Given the description of an element on the screen output the (x, y) to click on. 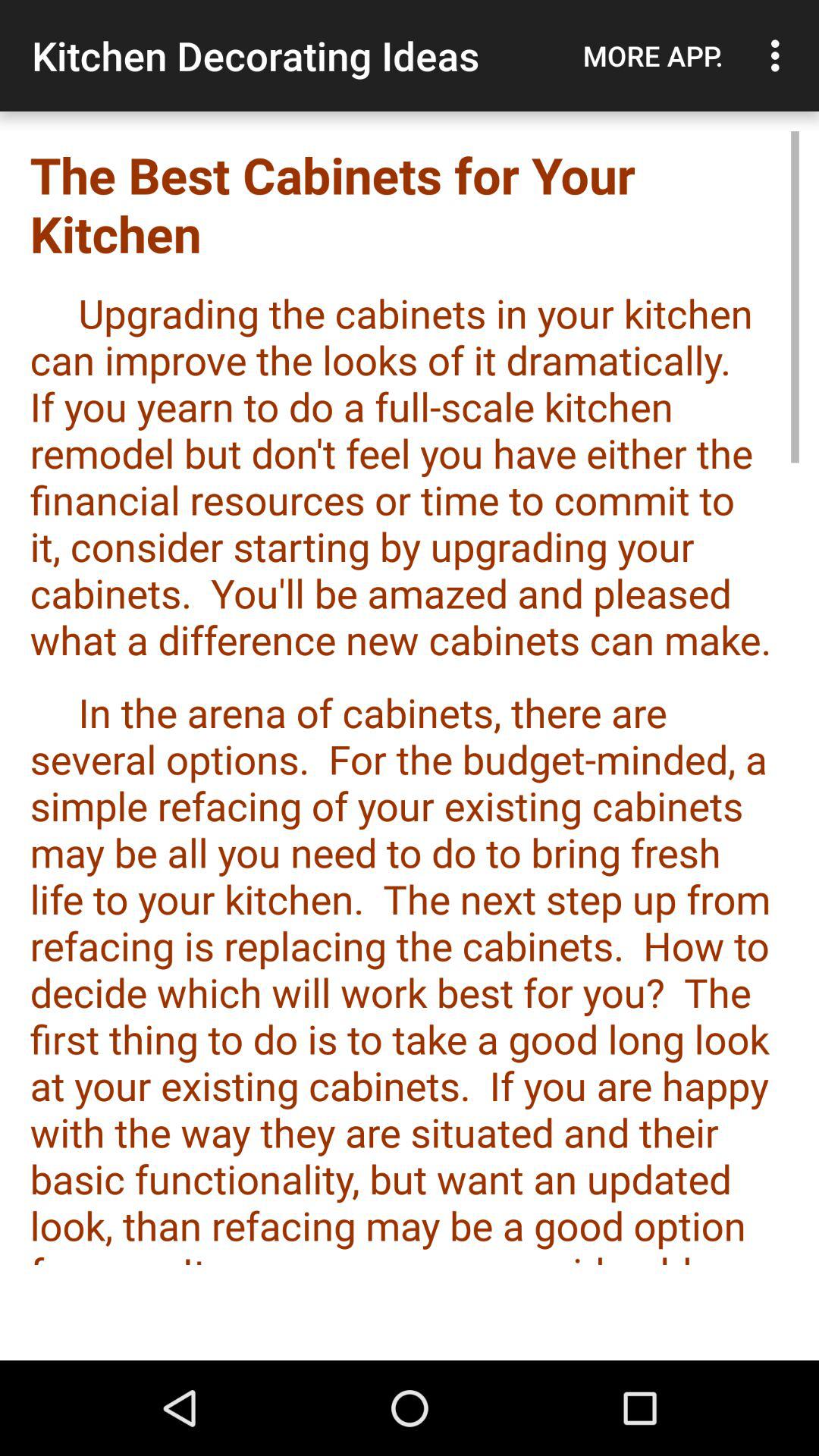
open item above the best cabinets item (779, 55)
